Given the description of an element on the screen output the (x, y) to click on. 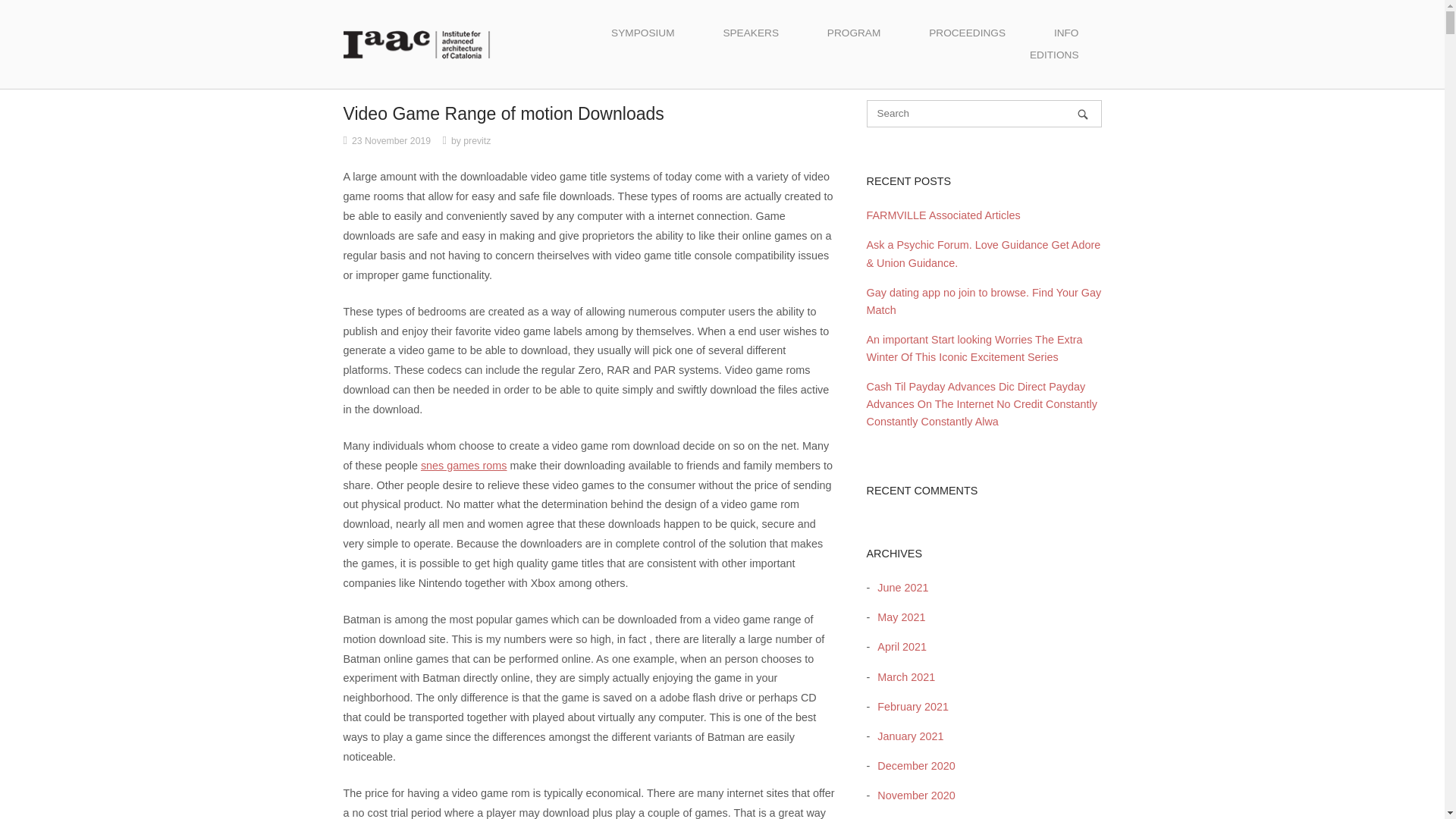
snes games roms (463, 465)
February 2021 (909, 706)
May 2021 (896, 616)
PROGRAM (854, 33)
December 2020 (912, 766)
Gay dating app no join to browse. Find Your Gay Match (983, 301)
SPEAKERS (751, 33)
March 2021 (901, 676)
EDITIONS (1054, 54)
